Given the description of an element on the screen output the (x, y) to click on. 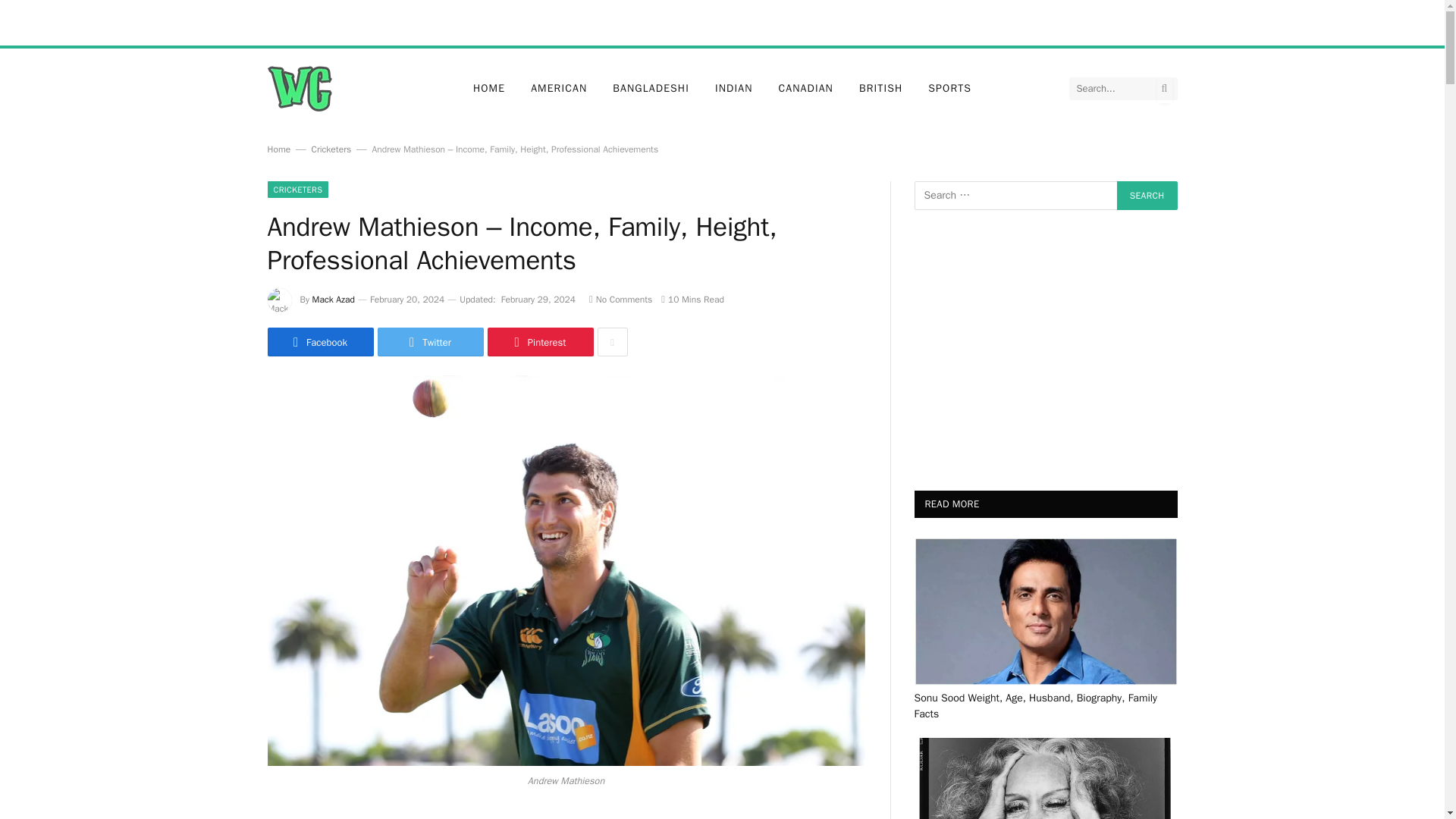
Search (1146, 194)
Twitter (430, 341)
Share on Pinterest (539, 341)
Posts by Mack Azad (334, 299)
Search (1146, 194)
Show More Social Sharing (611, 341)
Cricketers (330, 149)
Mack Azad (334, 299)
Share on Facebook (319, 341)
Pinterest (539, 341)
